Given the description of an element on the screen output the (x, y) to click on. 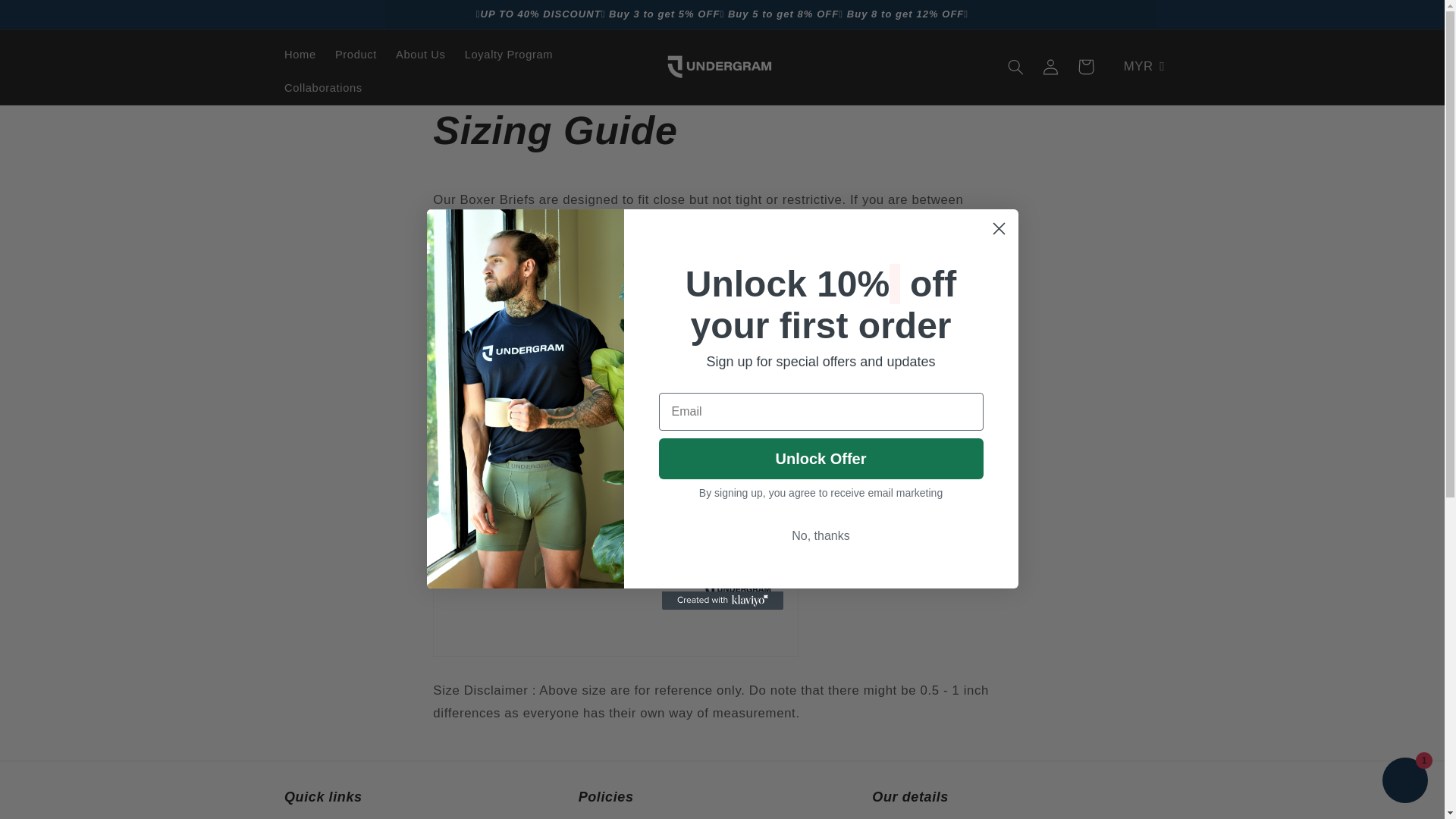
Log in (1049, 66)
MYR (1138, 72)
Cart (1085, 66)
Product (354, 54)
About Us (421, 54)
Collaborations (323, 87)
Skip to content (48, 18)
Home (299, 54)
Shopify online store chat (1404, 781)
Loyalty Program (508, 54)
Close dialog 1 (998, 228)
